Given the description of an element on the screen output the (x, y) to click on. 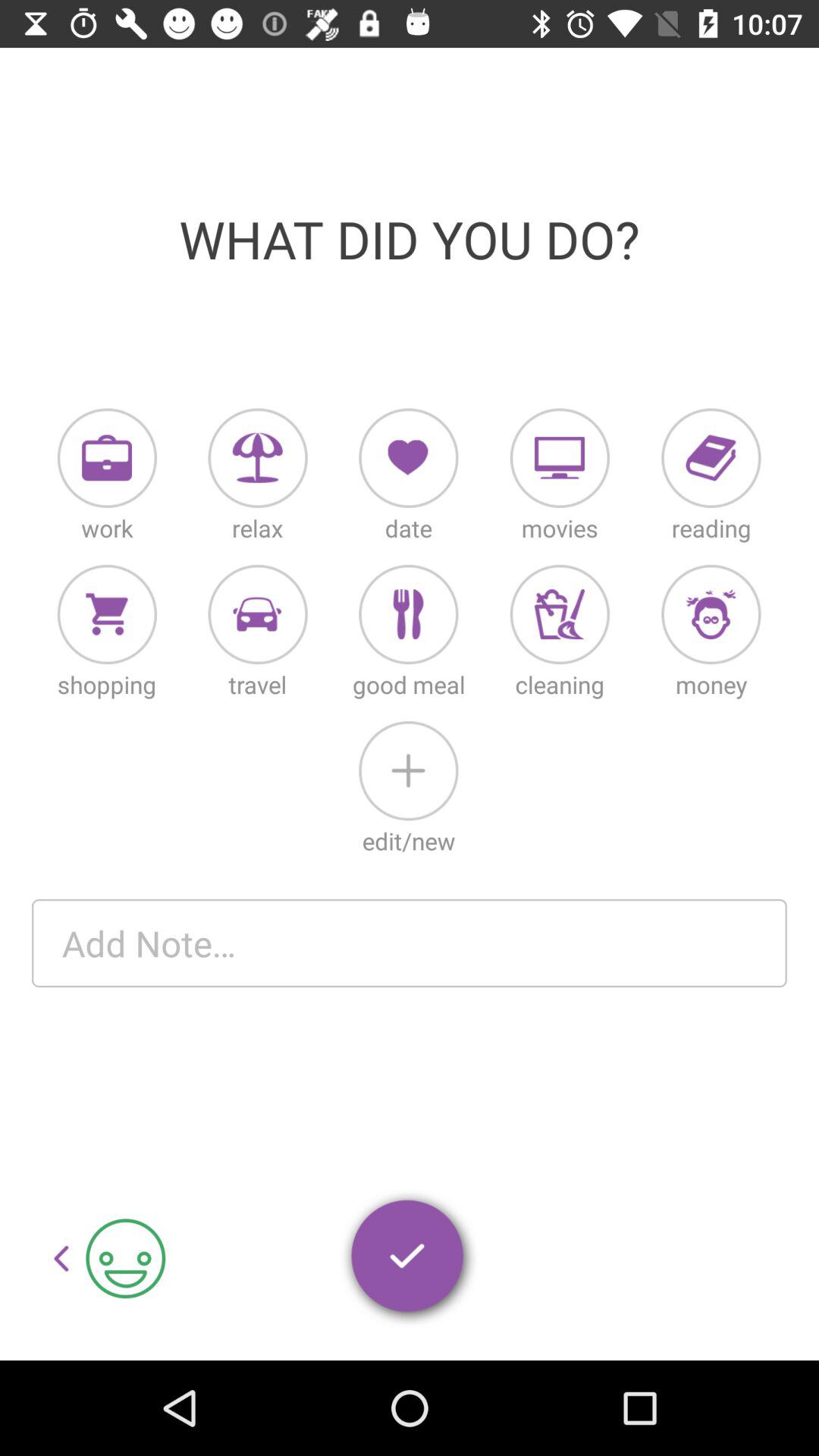
add note (409, 943)
